Given the description of an element on the screen output the (x, y) to click on. 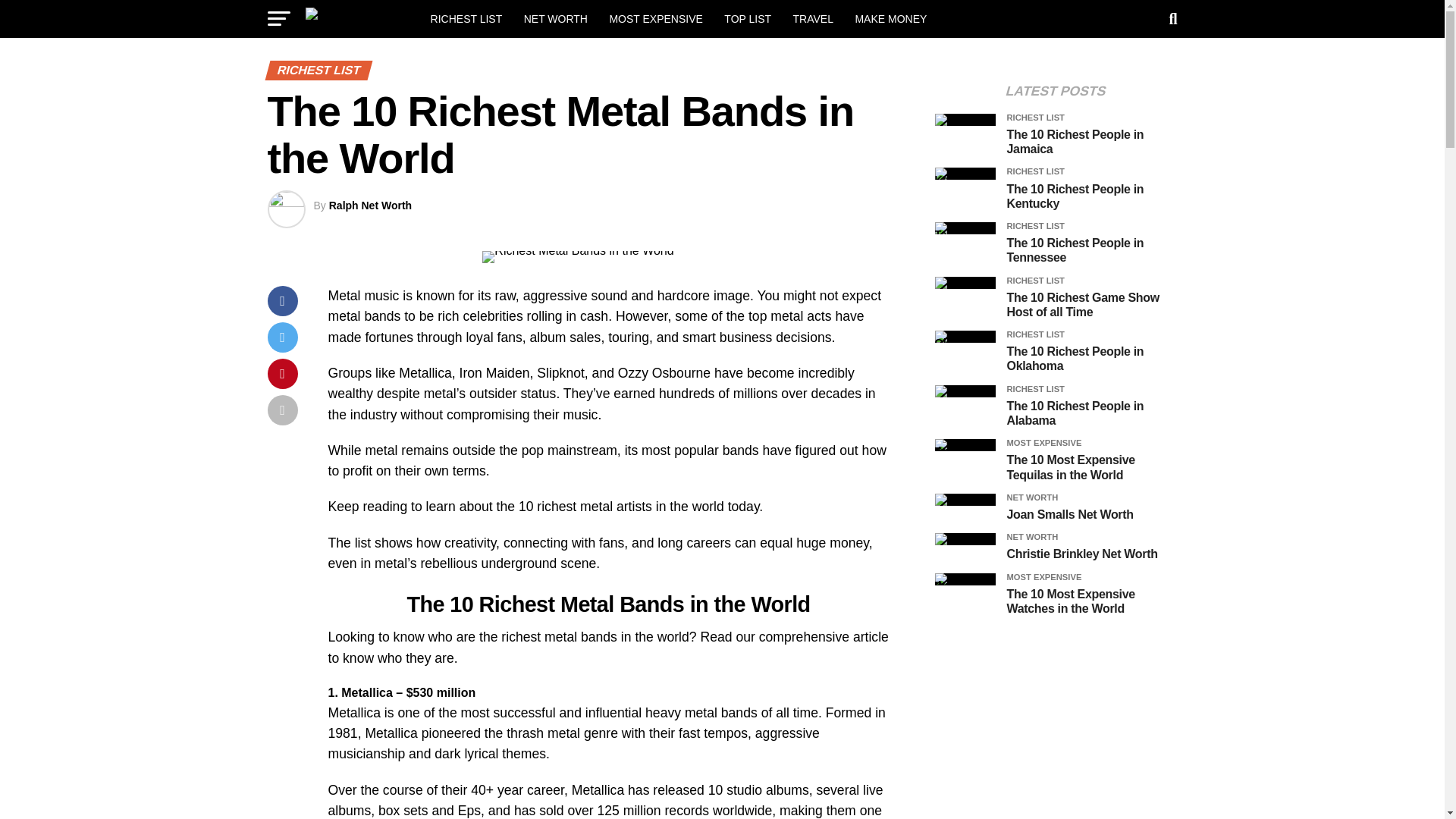
TRAVEL (813, 18)
Posts by Ralph Net Worth (370, 205)
NET WORTH (555, 18)
MOST EXPENSIVE (655, 18)
Ralph Net Worth (370, 205)
TOP LIST (747, 18)
MAKE MONEY (890, 18)
LATEST POSTS (1055, 91)
RICHEST LIST (467, 18)
